Given the description of an element on the screen output the (x, y) to click on. 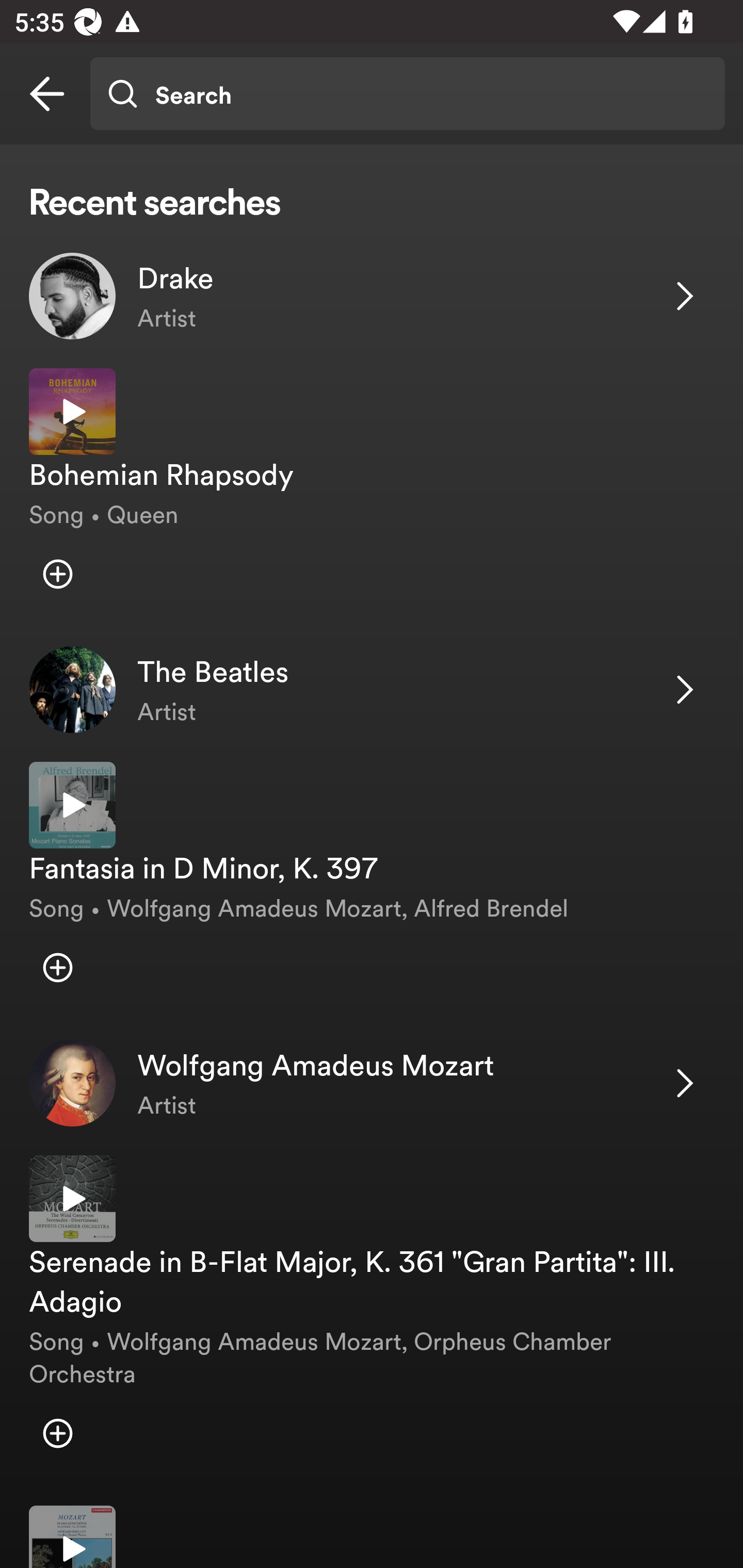
Back (46, 93)
Search (407, 94)
Drake Artist (371, 296)
Play preview (71, 411)
Add item (57, 573)
The Beatles Artist (371, 689)
Play preview (71, 805)
Add item (57, 967)
Wolfgang Amadeus Mozart Artist (371, 1083)
Play preview (71, 1198)
Add item (57, 1433)
Play preview (71, 1536)
